Given the description of an element on the screen output the (x, y) to click on. 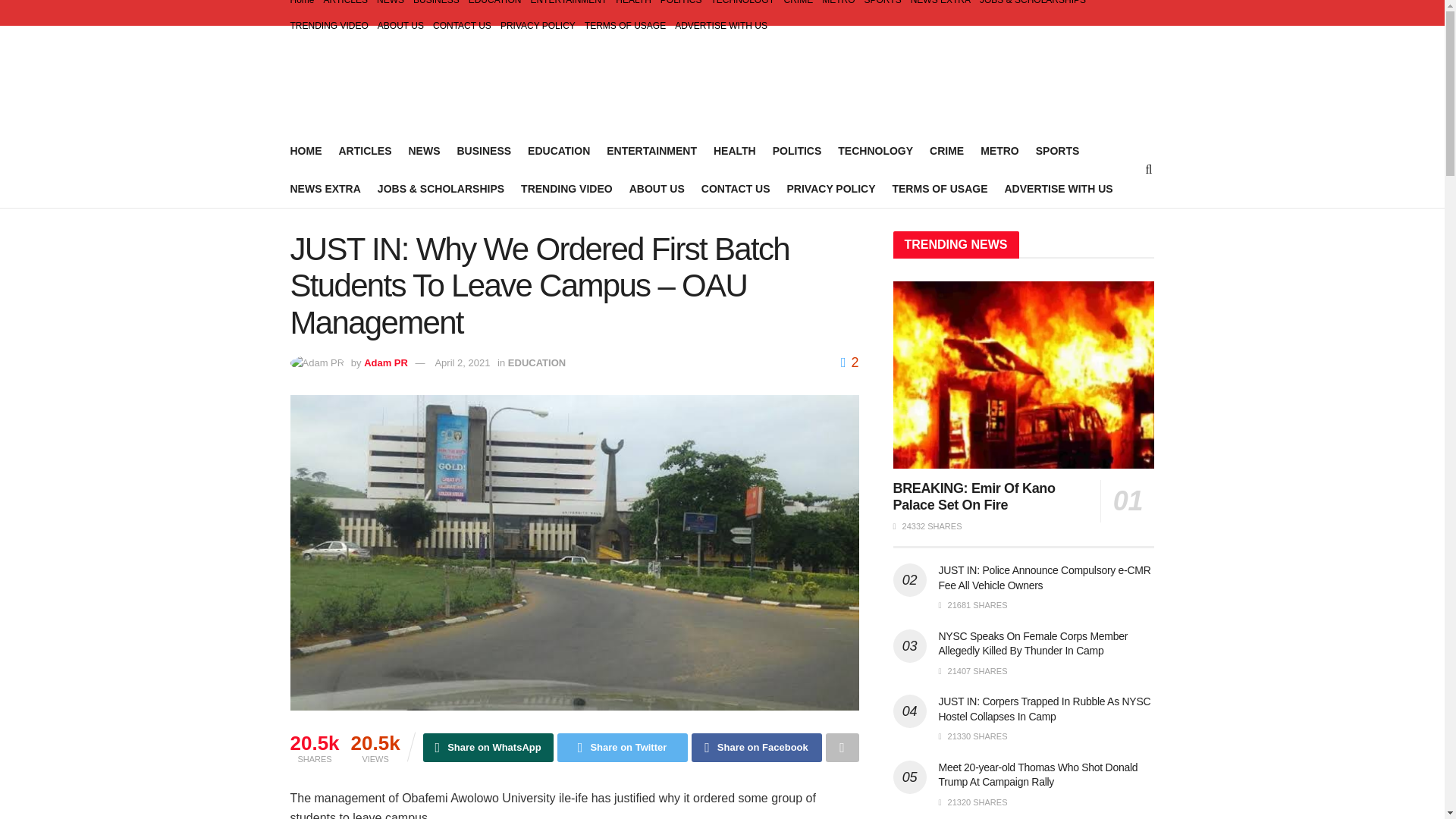
ADVERTISE WITH US (721, 25)
ABOUT US (656, 188)
TERMS OF USAGE (625, 25)
NEWS EXTRA (941, 6)
CONTACT US (462, 25)
ARTICLES (364, 150)
PRIVACY POLICY (537, 25)
CRIME (798, 6)
ARTICLES (345, 6)
EDUCATION (494, 6)
HEALTH (632, 6)
NEWS EXTRA (324, 188)
DAILY GIST (408, 78)
SPORTS (1057, 150)
CONTACT US (735, 188)
